Given the description of an element on the screen output the (x, y) to click on. 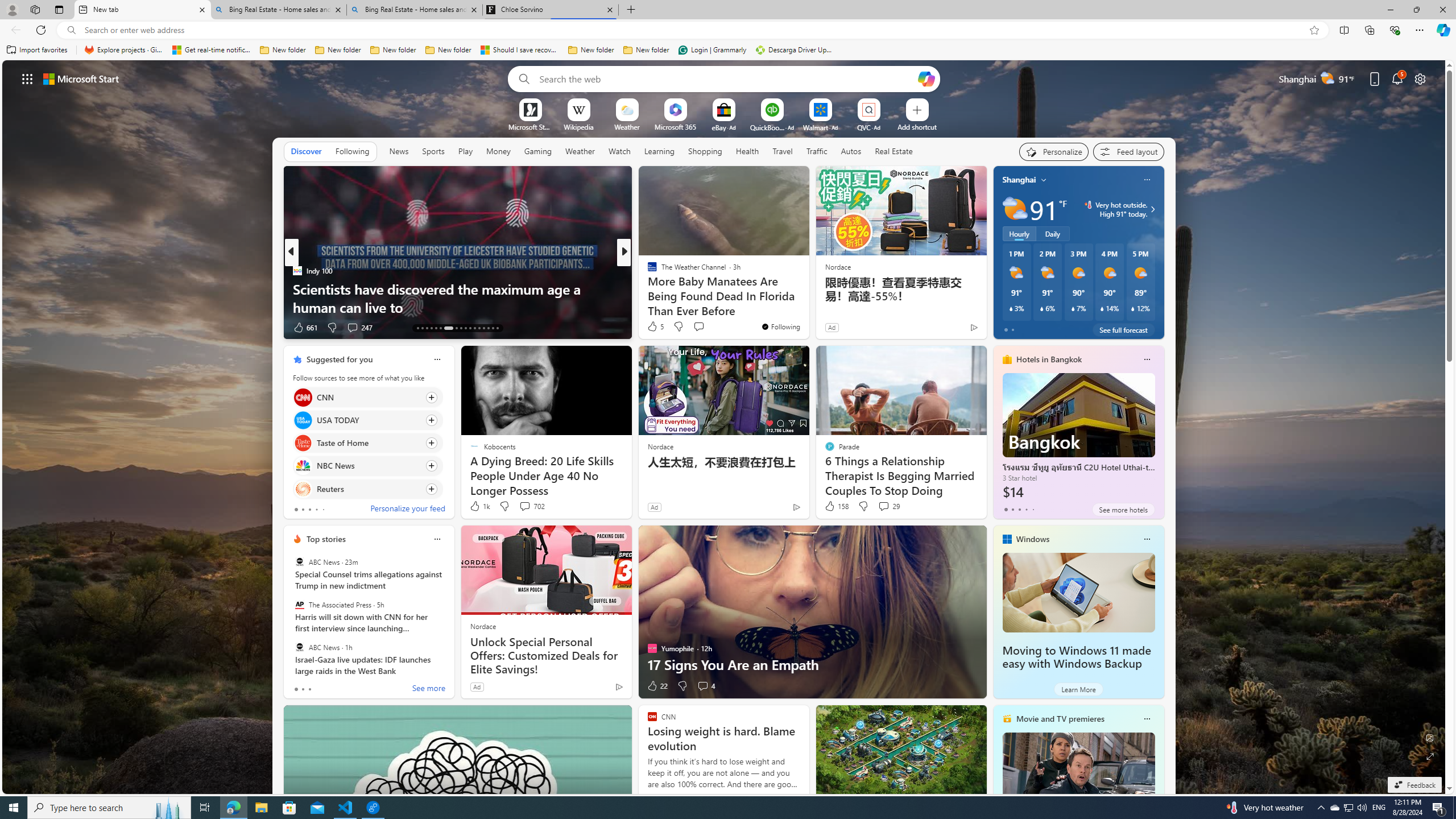
AutomationID: tab-40 (488, 328)
Hide this story (597, 359)
1k Like (478, 505)
View comments 702 Comment (523, 505)
Windows (1032, 538)
View comments 6 Comment (705, 327)
Suggested for you (338, 359)
Autos (851, 151)
Nordace.com (663, 288)
Shanghai (1018, 179)
Traffic (816, 151)
Gaming (537, 151)
